Given the description of an element on the screen output the (x, y) to click on. 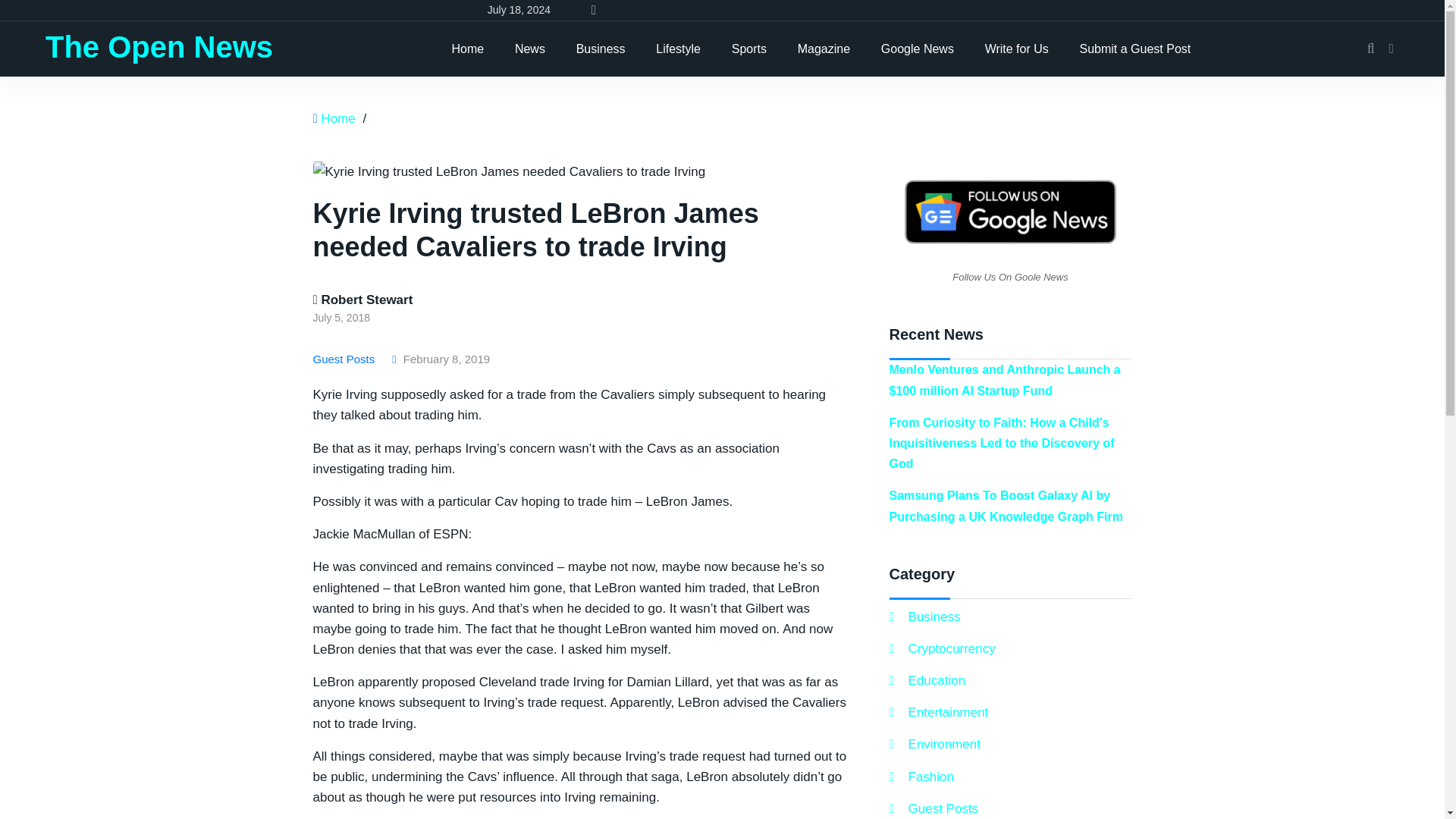
Cryptocurrency (941, 648)
Submit a Guest Post (1135, 49)
Home (467, 49)
Fashion (920, 776)
Magazine (823, 49)
Education (926, 680)
The Open News (159, 46)
Lifestyle (678, 49)
Sports (748, 49)
Environment (933, 743)
Entertainment (938, 711)
Guest Posts (346, 358)
Business (600, 49)
Robert Stewart (362, 299)
